Given the description of an element on the screen output the (x, y) to click on. 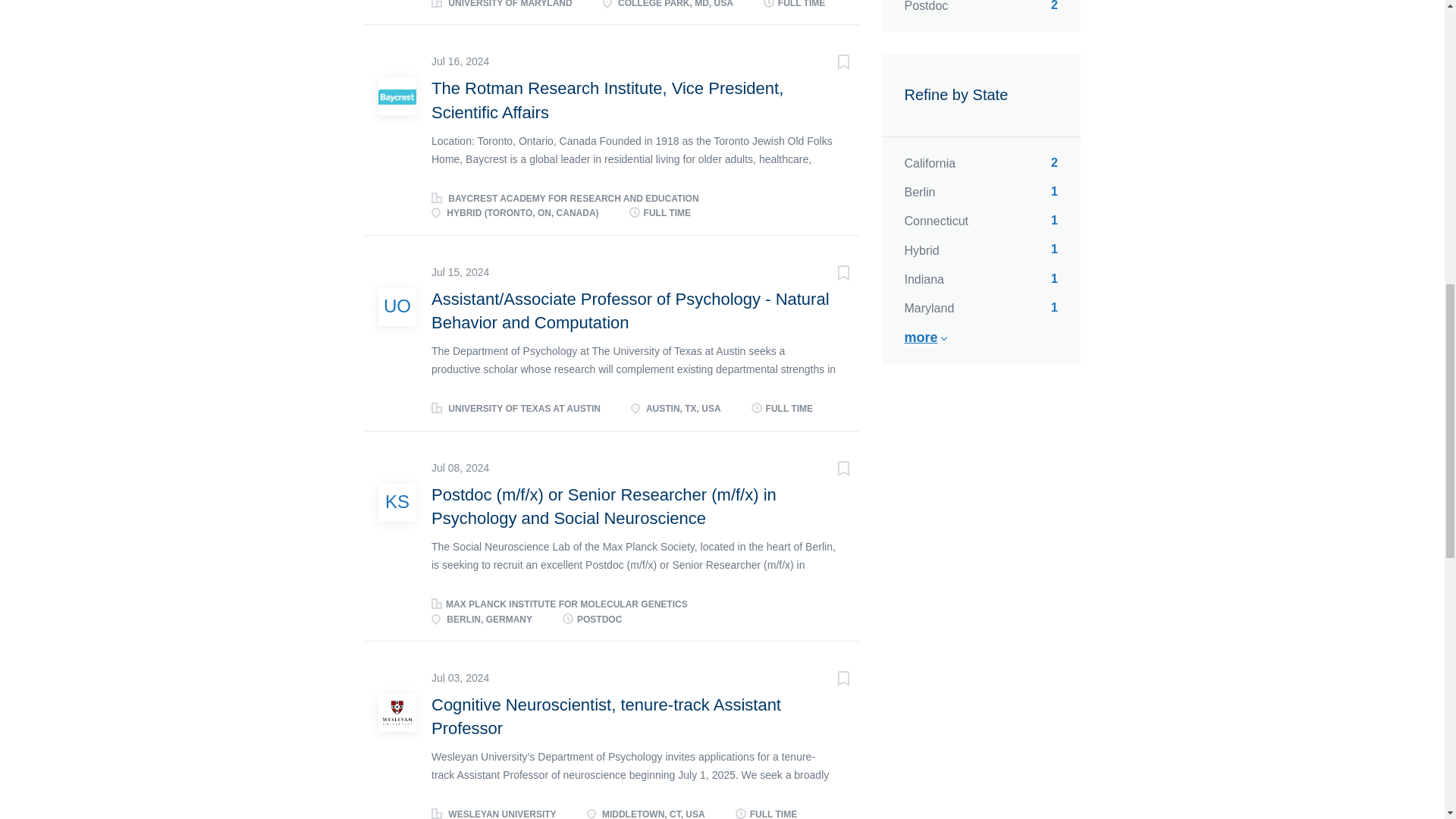
Save (828, 275)
Save (828, 470)
University of Texas at Austin (397, 306)
Save (828, 680)
Save (828, 64)
